Given the description of an element on the screen output the (x, y) to click on. 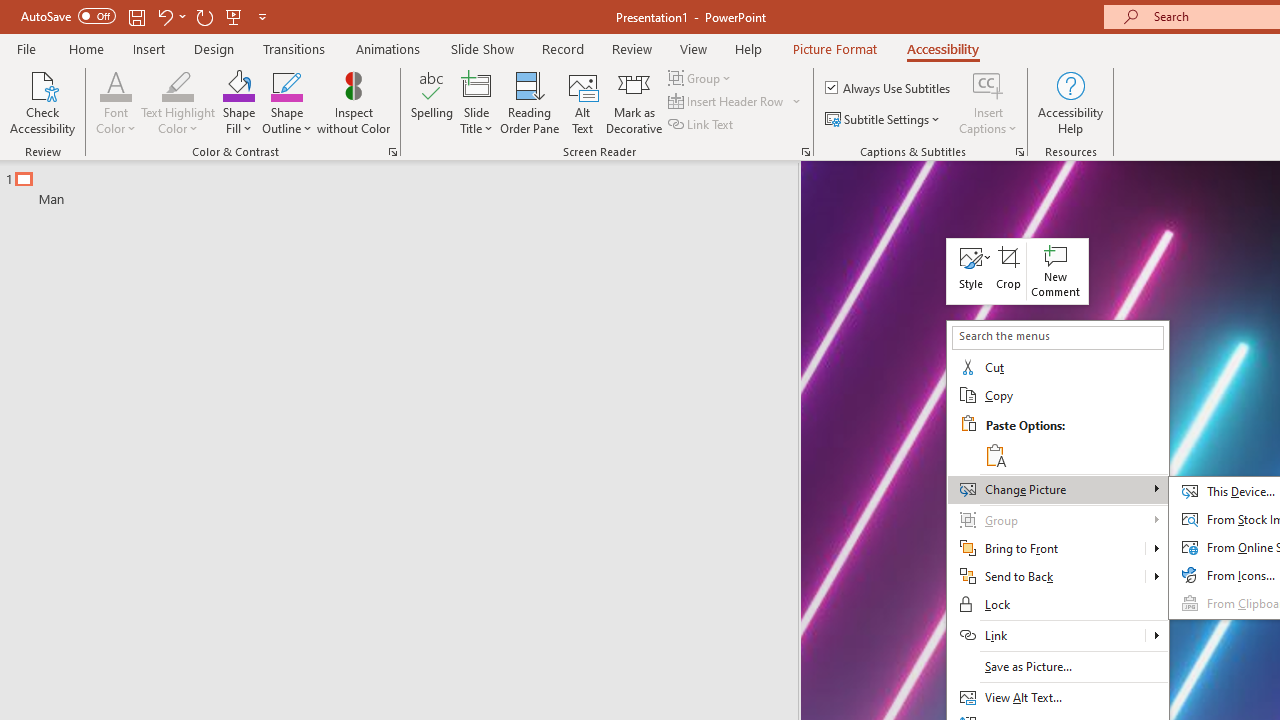
Captions & Subtitles (1019, 151)
Inspect without Color (353, 102)
Send to Back (1156, 577)
Screen Reader (805, 151)
Bring to Front (1046, 548)
Class: NetUIAnchor (970, 270)
New Comment (1055, 270)
